Given the description of an element on the screen output the (x, y) to click on. 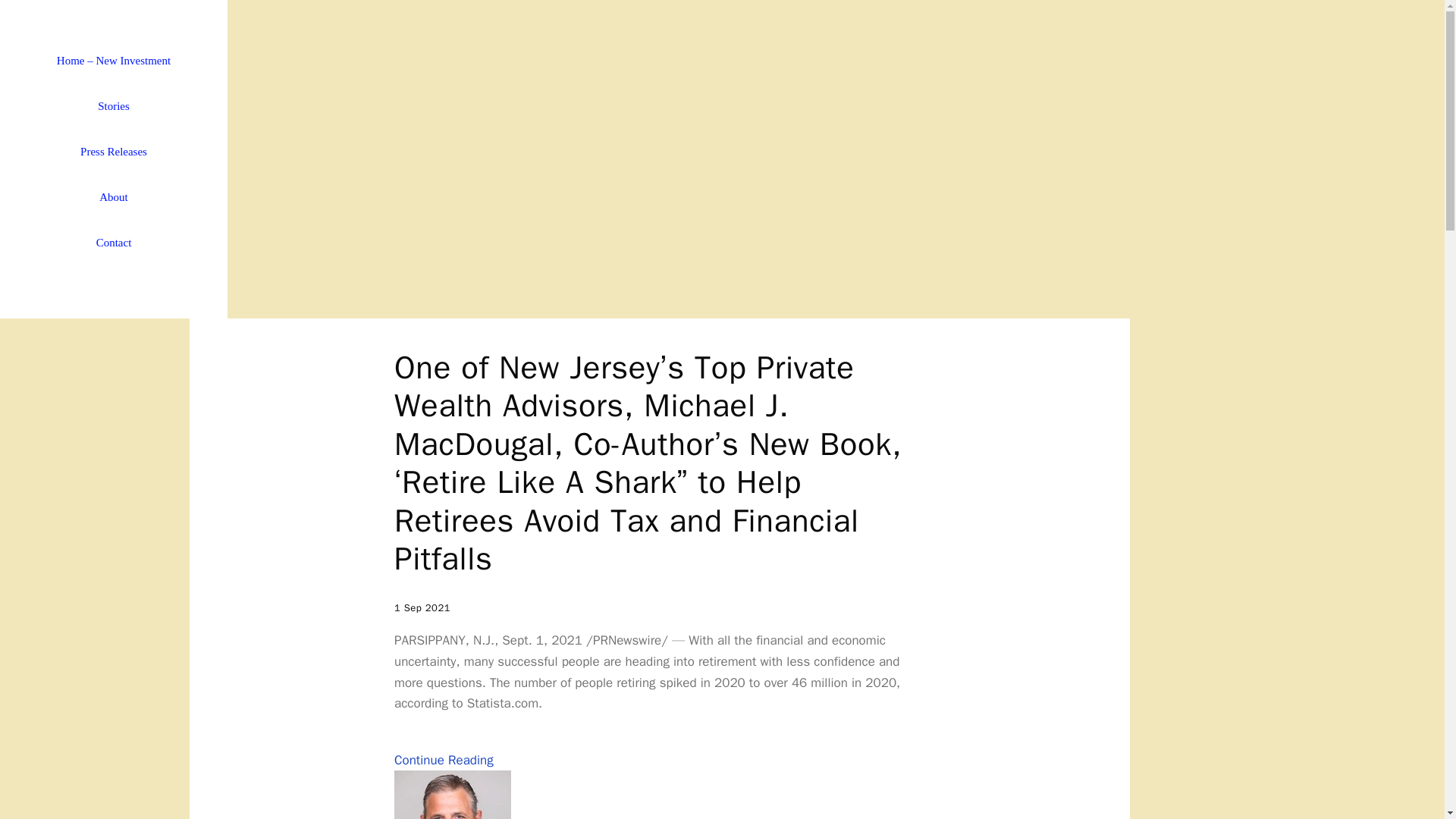
Contact (113, 242)
Continue Reading (443, 760)
Continue Reading (443, 760)
Michael J. MacDougal (452, 794)
About (113, 197)
Press Releases (113, 151)
